Given the description of an element on the screen output the (x, y) to click on. 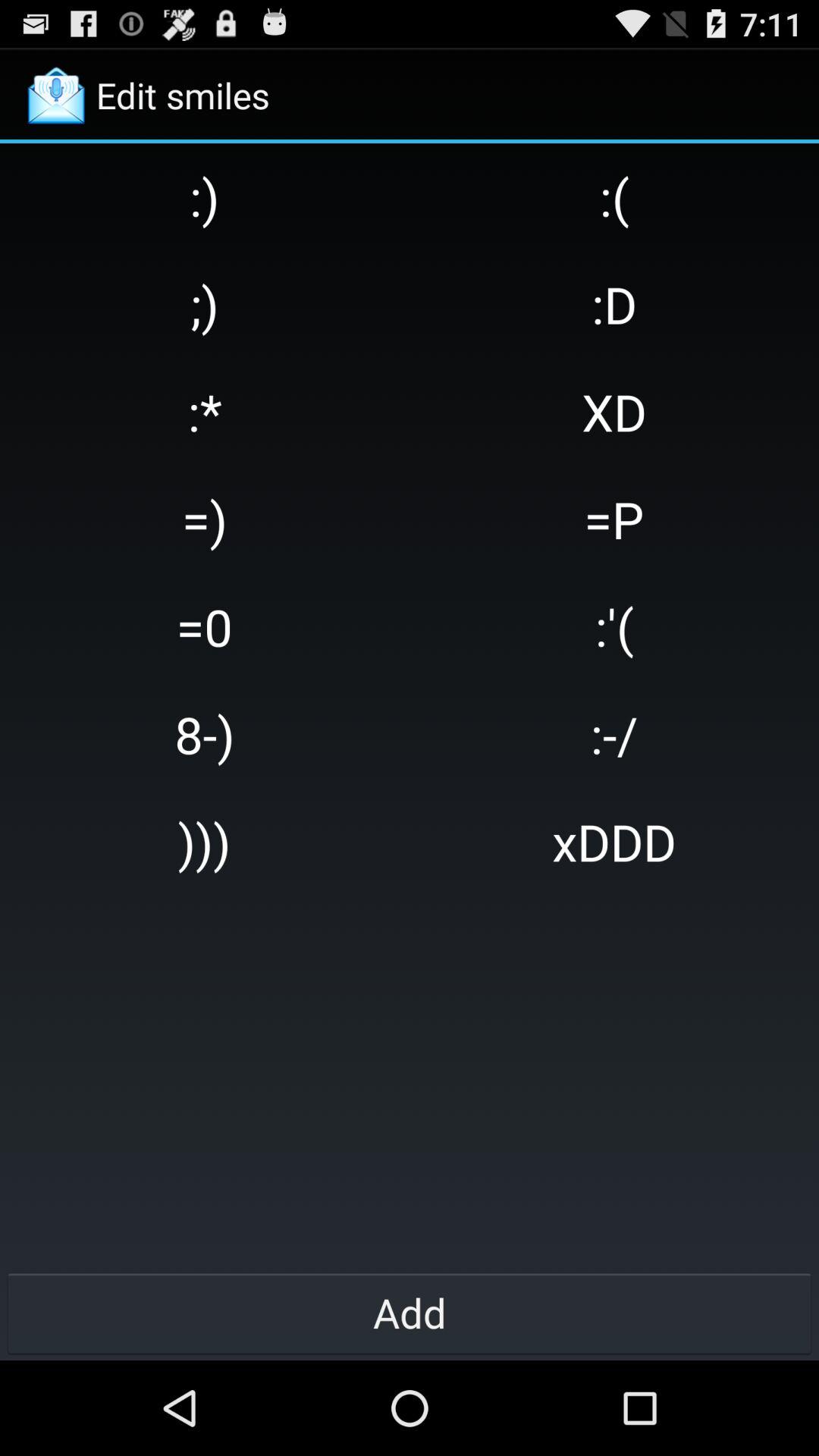
turn on add at the bottom (409, 1312)
